Given the description of an element on the screen output the (x, y) to click on. 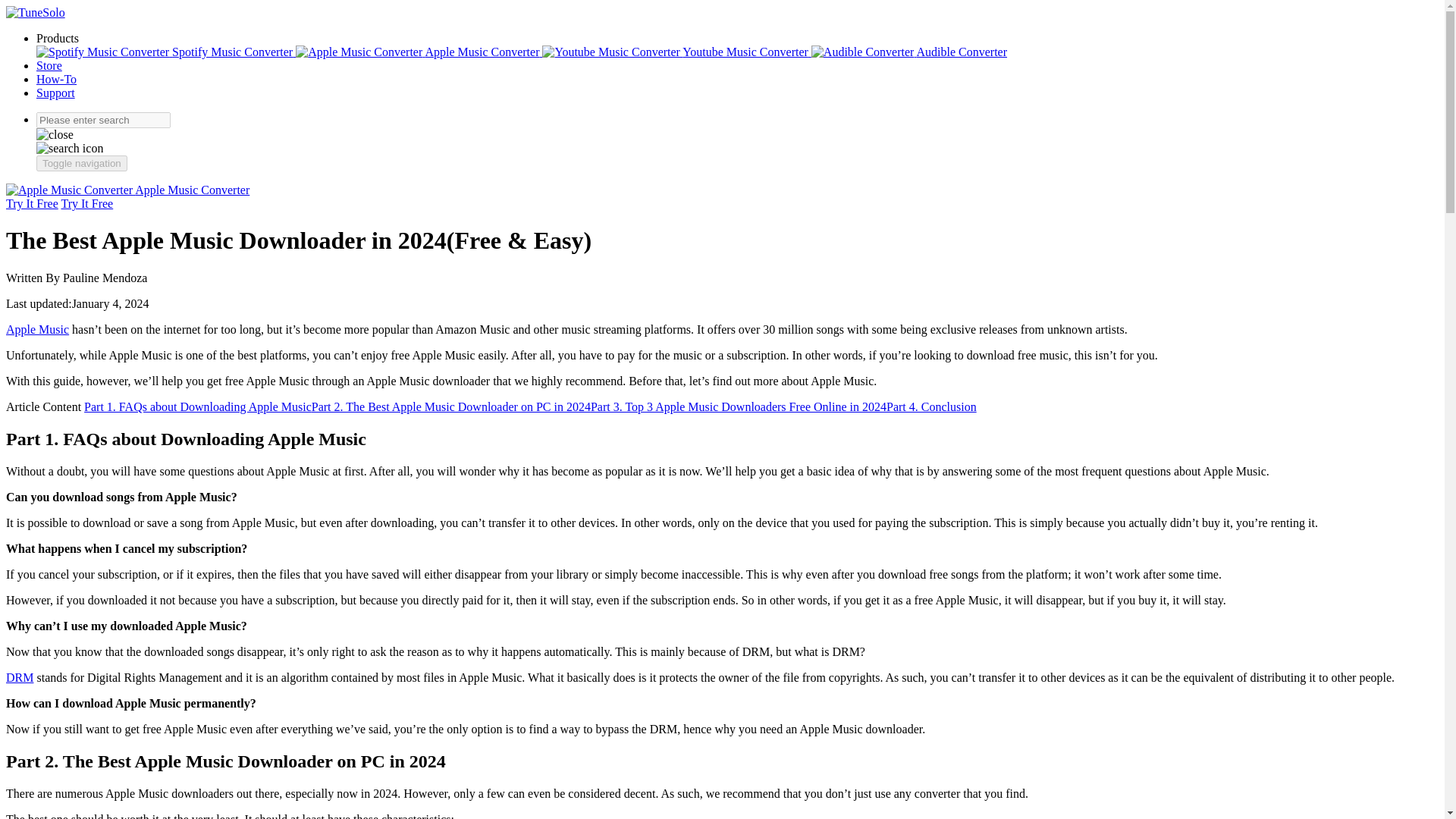
Youtube Music Converter (675, 51)
Toggle navigation (82, 163)
Audible Converter (908, 51)
Store (49, 65)
Apple Music Converter (126, 189)
Part 2. The Best Apple Music Downloader on PC in 2024 (451, 406)
Try It Free (31, 203)
Support (55, 92)
Part 3. Top 3 Apple Music Downloaders Free Online in 2024 (738, 406)
Store (49, 65)
DRM (19, 676)
TuneSolo (35, 11)
Official Site of Apple Music (36, 328)
How-To (56, 78)
Part 1. FAQs about Downloading Apple Music (197, 406)
